Given the description of an element on the screen output the (x, y) to click on. 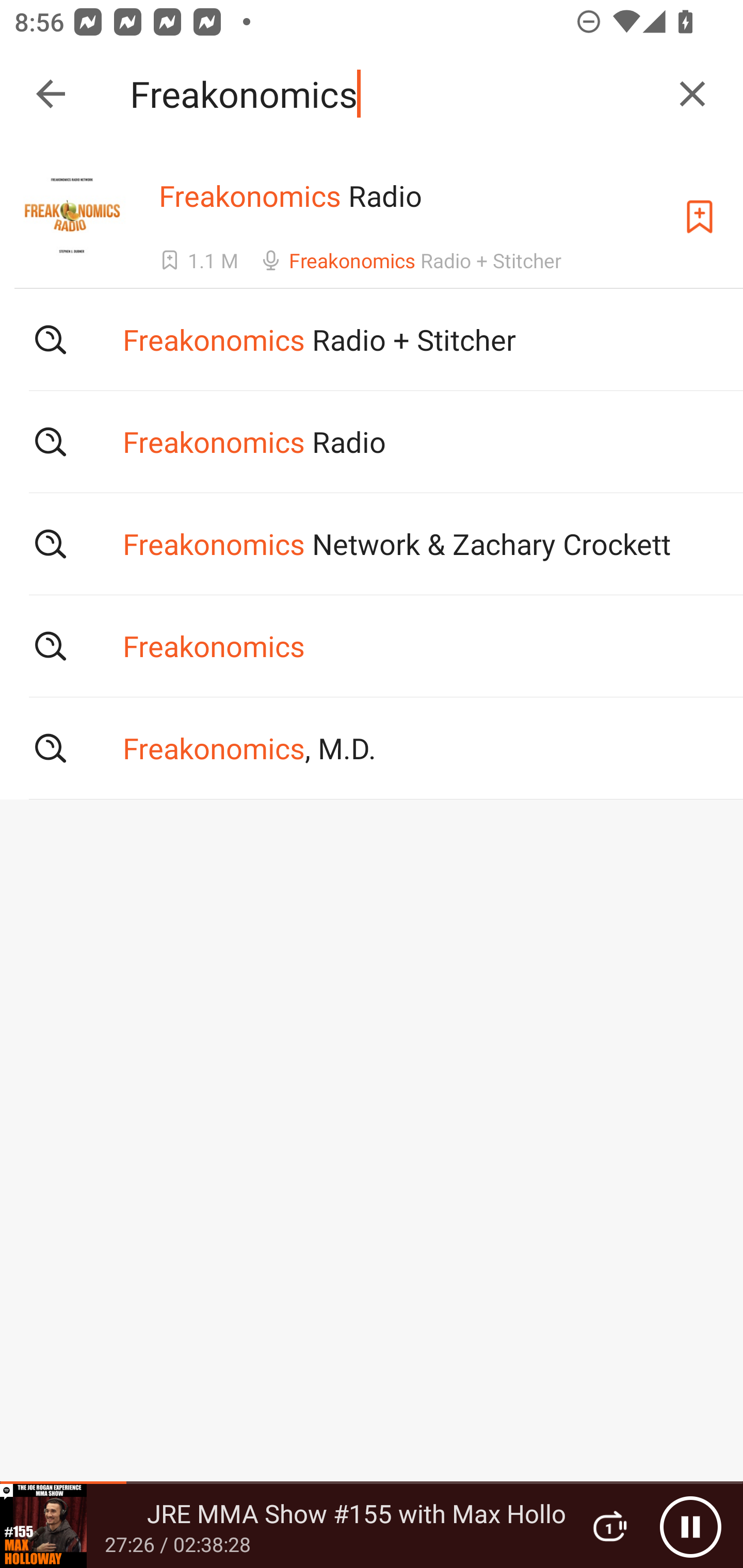
Collapse (50, 93)
Clear query (692, 93)
Freakonomics (393, 94)
Subscribe (699, 216)
 Freakonomics Radio + Stitcher (371, 339)
 Freakonomics Radio (371, 441)
 Freakonomics Network & Zachary Crockett (371, 543)
 Freakonomics (371, 645)
 Freakonomics, M.D. (371, 748)
Pause (690, 1526)
